Given the description of an element on the screen output the (x, y) to click on. 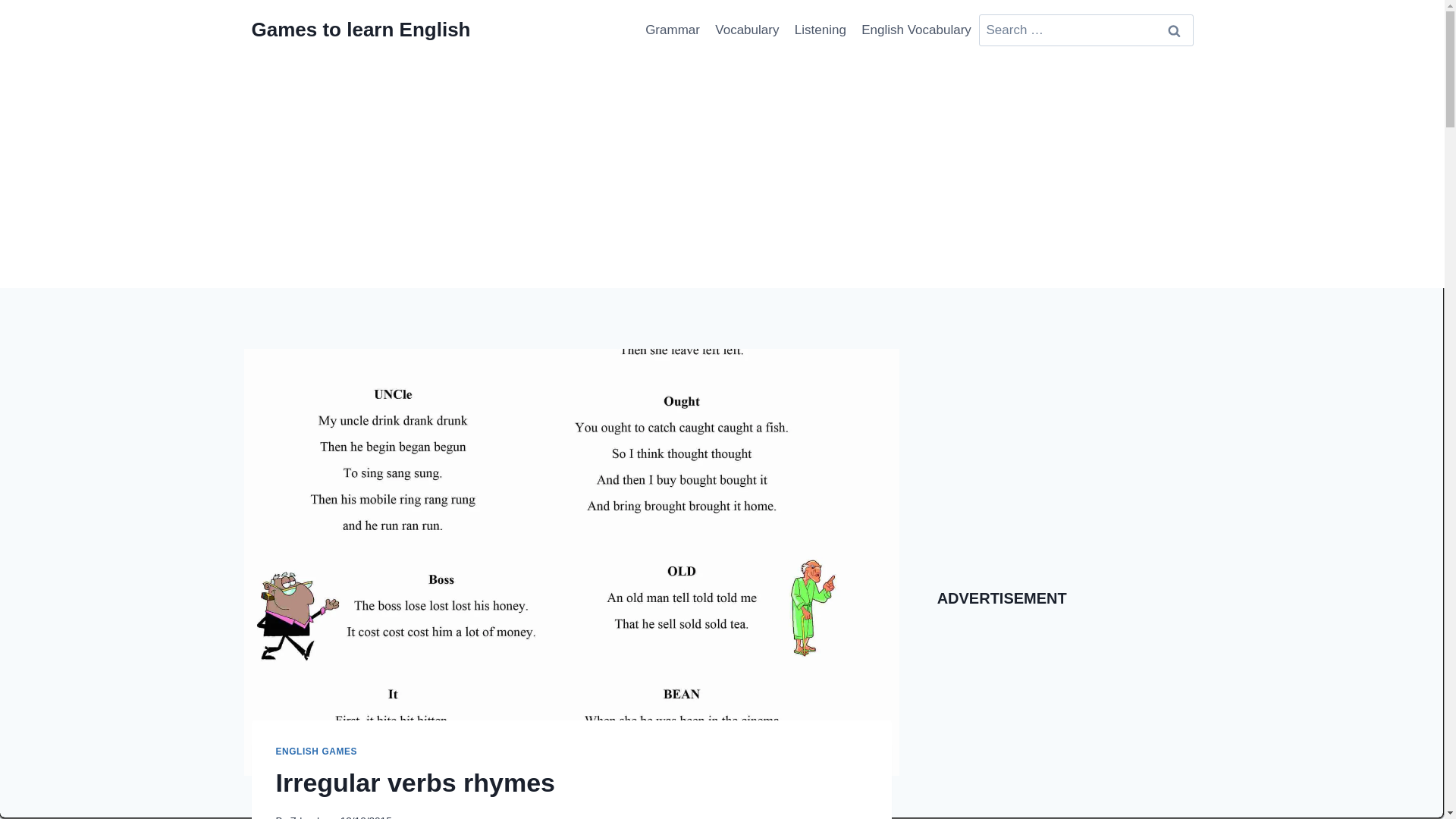
Games to learn English (360, 29)
Vocabulary (747, 30)
Zdenda (306, 816)
Listening (820, 30)
Advertisement (1064, 454)
Search (1174, 30)
Search (1174, 30)
Advertisement (1050, 718)
ENGLISH GAMES (317, 751)
Search (1174, 30)
